Given the description of an element on the screen output the (x, y) to click on. 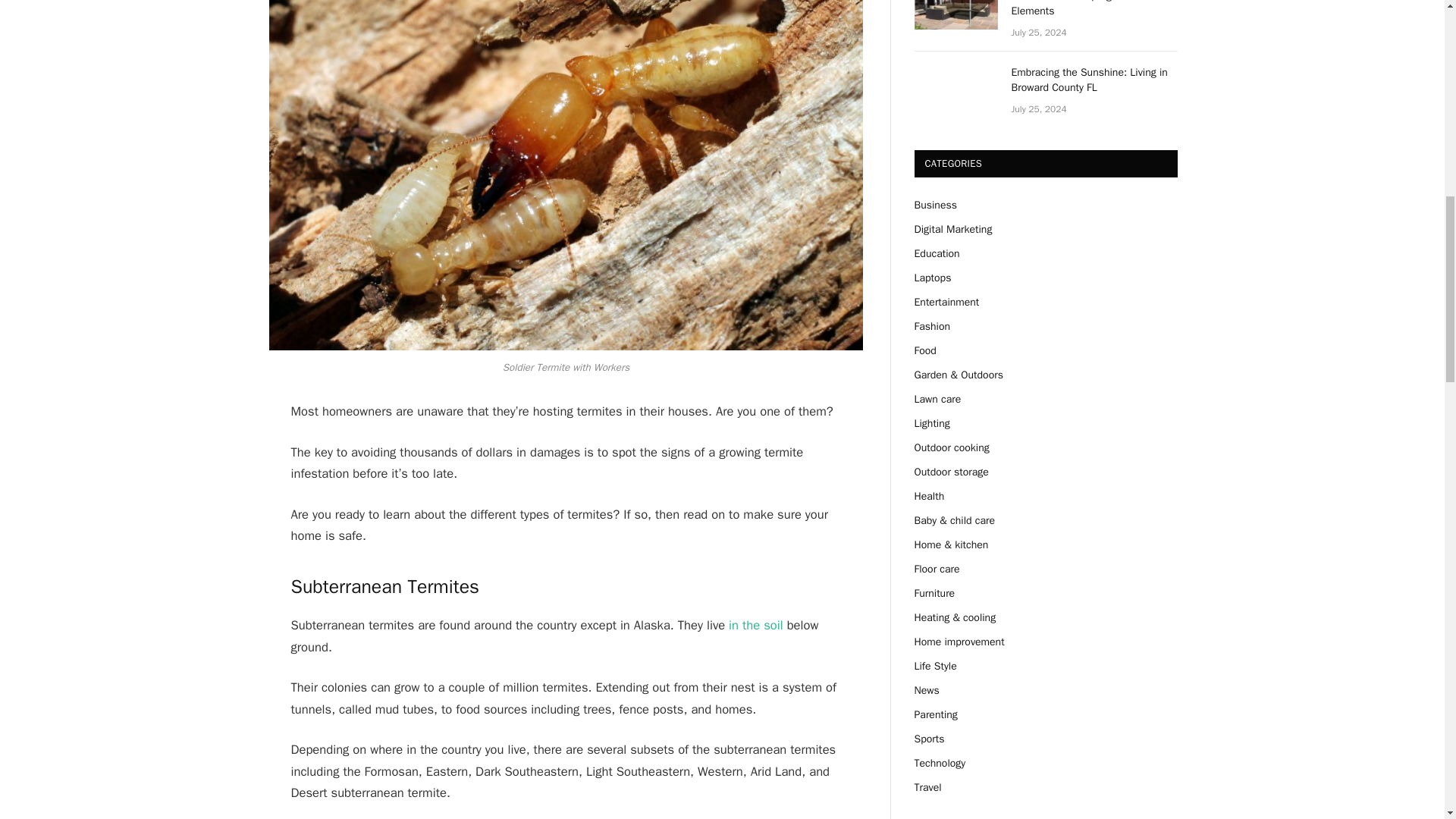
in the soil (756, 625)
